Given the description of an element on the screen output the (x, y) to click on. 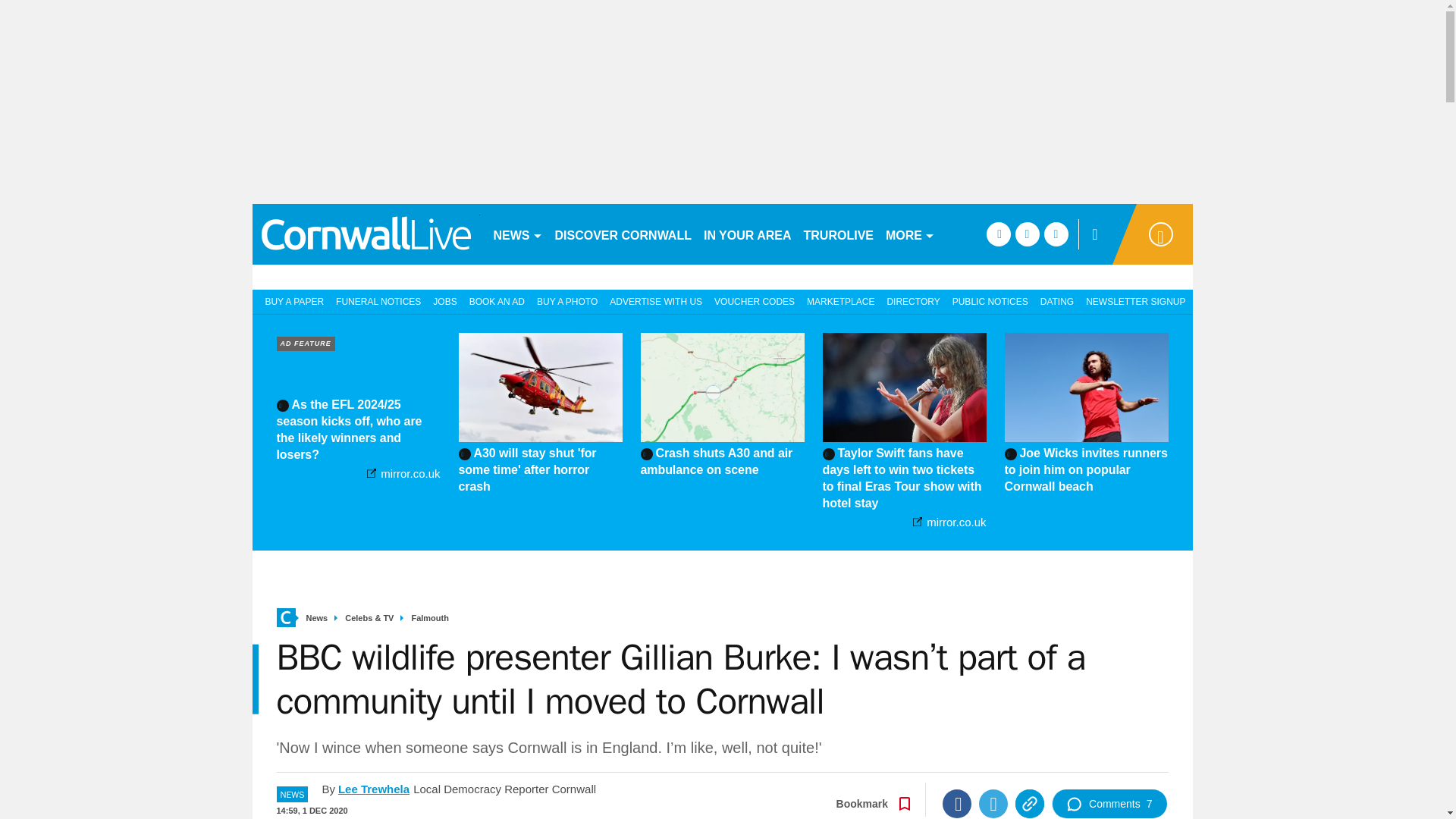
TRUROLIVE (838, 233)
IN YOUR AREA (747, 233)
cornwalllive (365, 233)
MORE (909, 233)
DISCOVER CORNWALL (622, 233)
Comments (1108, 803)
NEWS (517, 233)
Facebook (956, 803)
twitter (1026, 233)
Twitter (992, 803)
